Given the description of an element on the screen output the (x, y) to click on. 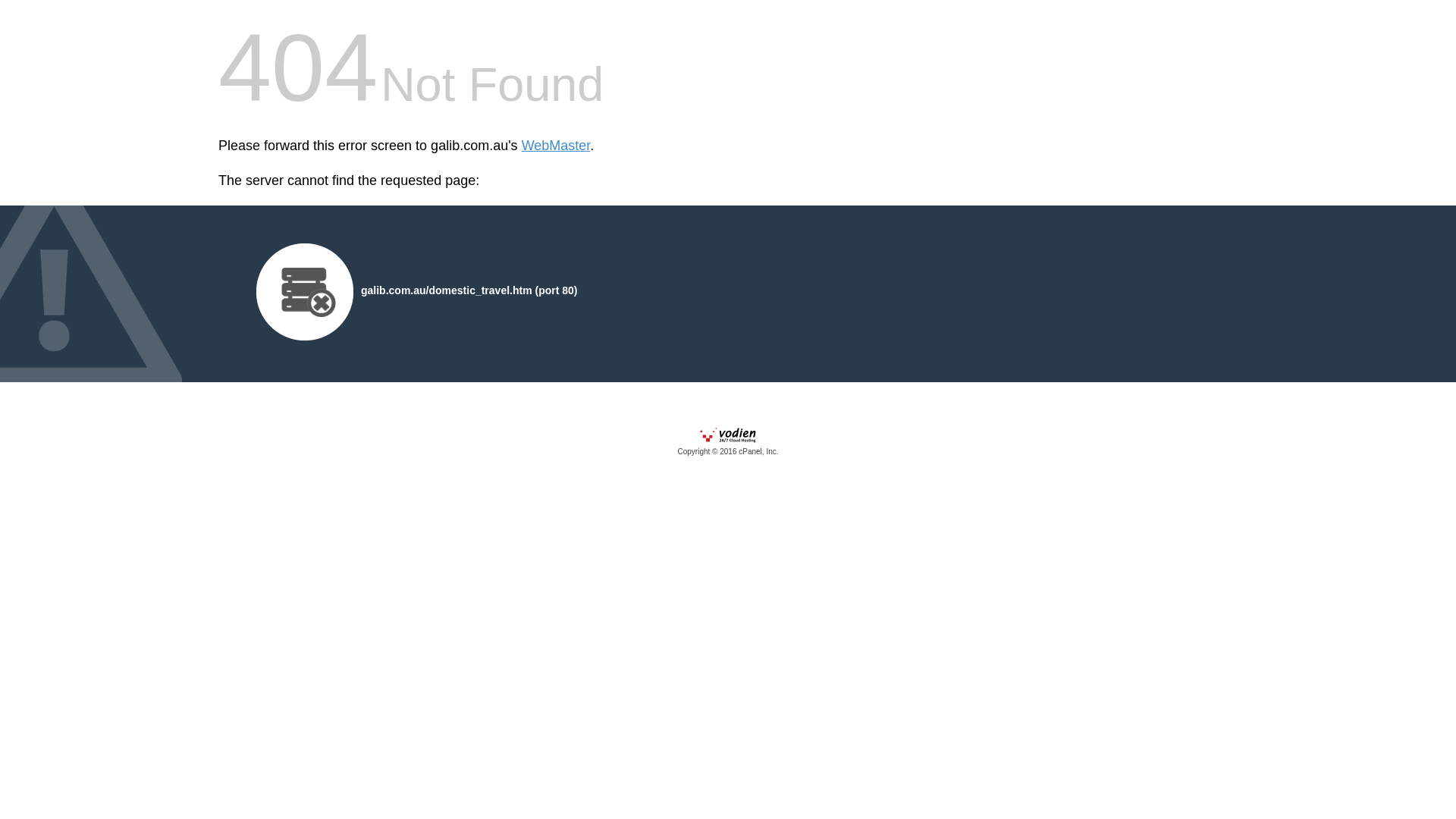
WebMaster Element type: text (555, 145)
